Given the description of an element on the screen output the (x, y) to click on. 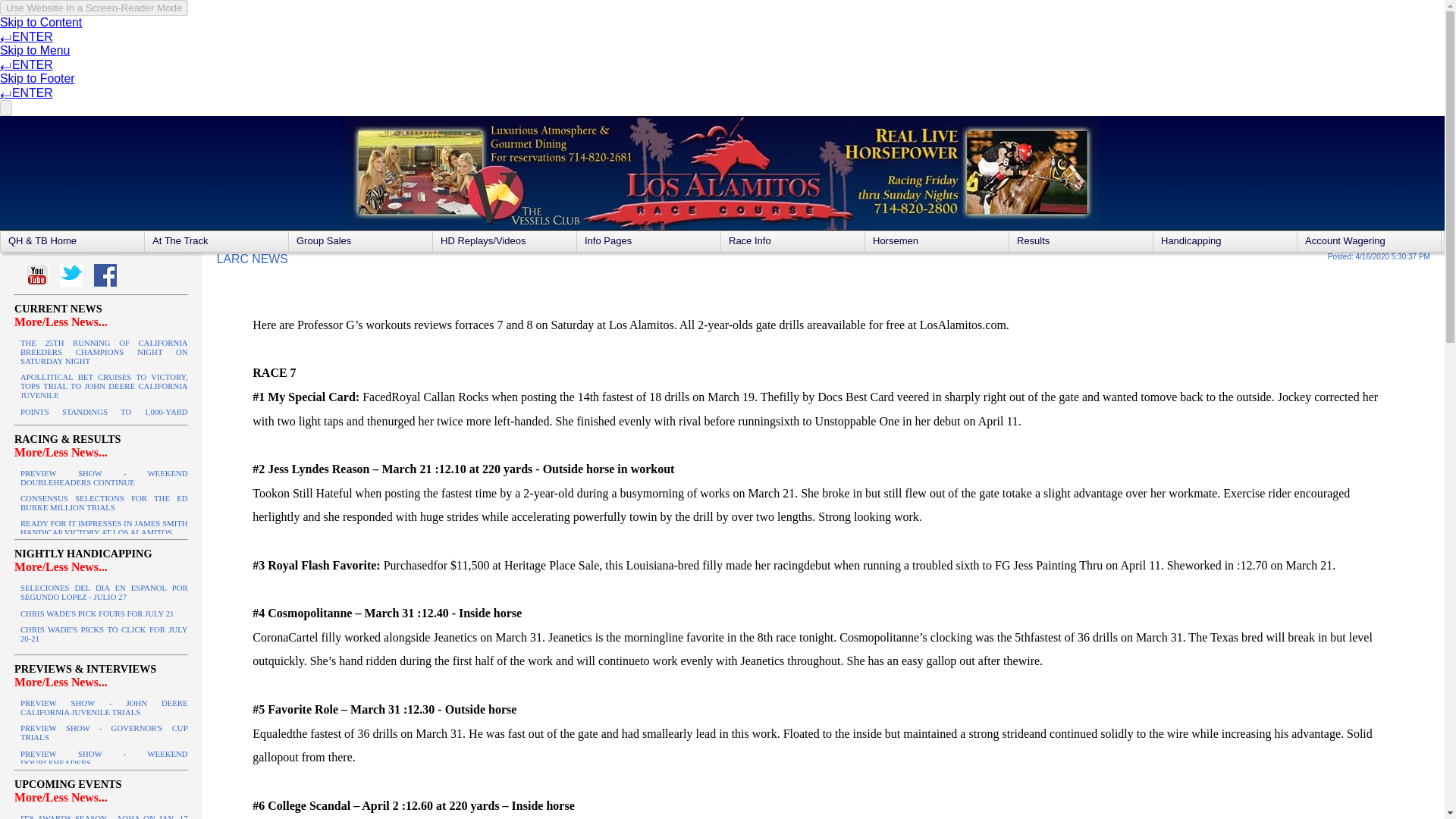
At The Track (216, 240)
Home pages (72, 240)
